Given the description of an element on the screen output the (x, y) to click on. 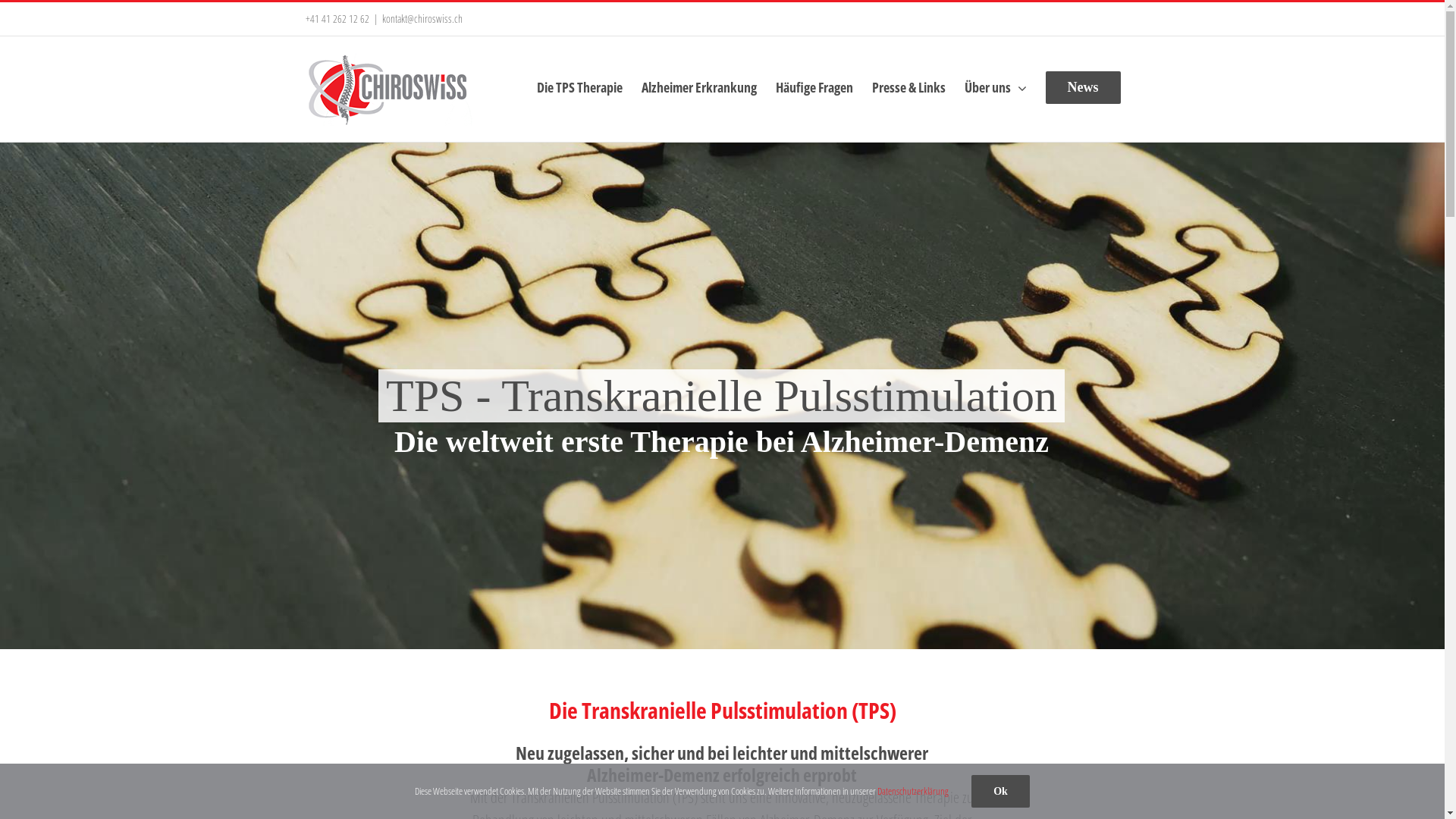
Presse & Links Element type: text (908, 87)
Alzheimer Erkrankung Element type: text (698, 87)
kontakt@chiroswiss.ch Element type: text (422, 18)
Die TPS Therapie Element type: text (579, 87)
Ok Element type: text (1000, 791)
News Element type: text (1082, 87)
